Given the description of an element on the screen output the (x, y) to click on. 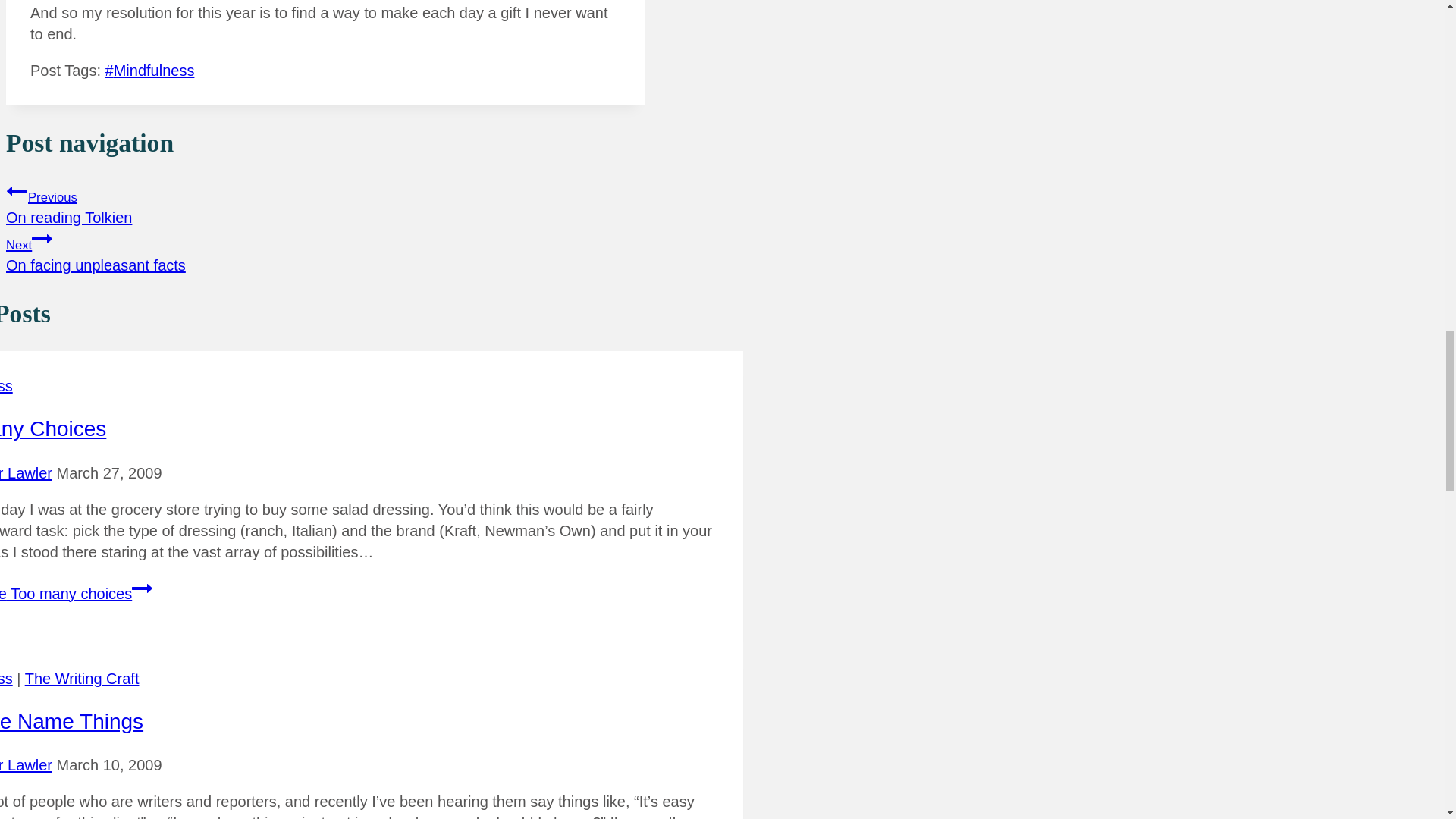
Previous (325, 250)
Continue (16, 190)
Mindfulness (142, 588)
Continue (149, 70)
